Given the description of an element on the screen output the (x, y) to click on. 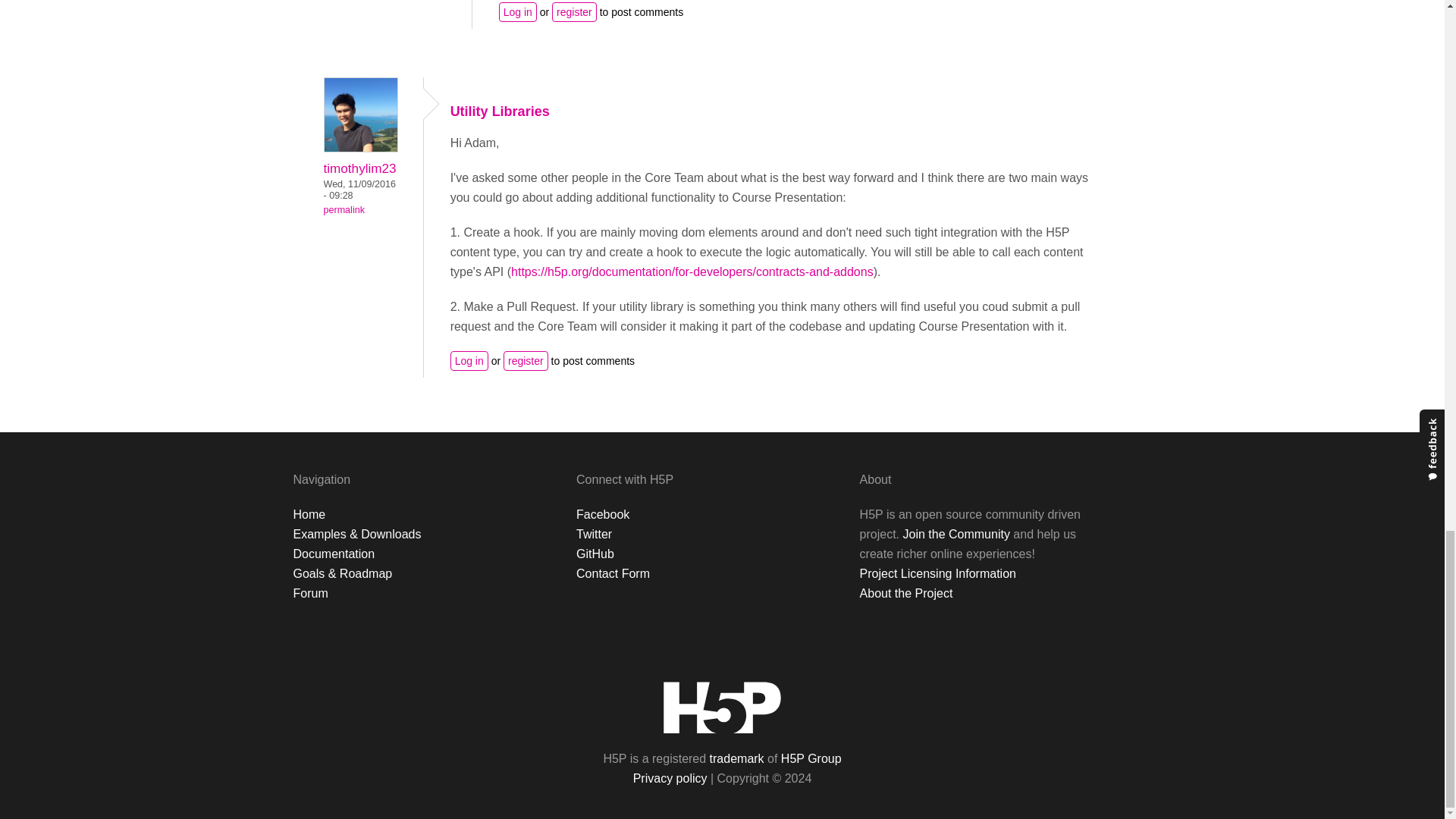
register (573, 12)
permalink (343, 209)
register (525, 361)
timothylim23's picture (360, 114)
Log in (518, 12)
Log in (468, 361)
Utility Libraries (499, 111)
Front page (722, 706)
View user profile. (359, 168)
View user profile. (360, 147)
timothylim23 (359, 168)
